Given the description of an element on the screen output the (x, y) to click on. 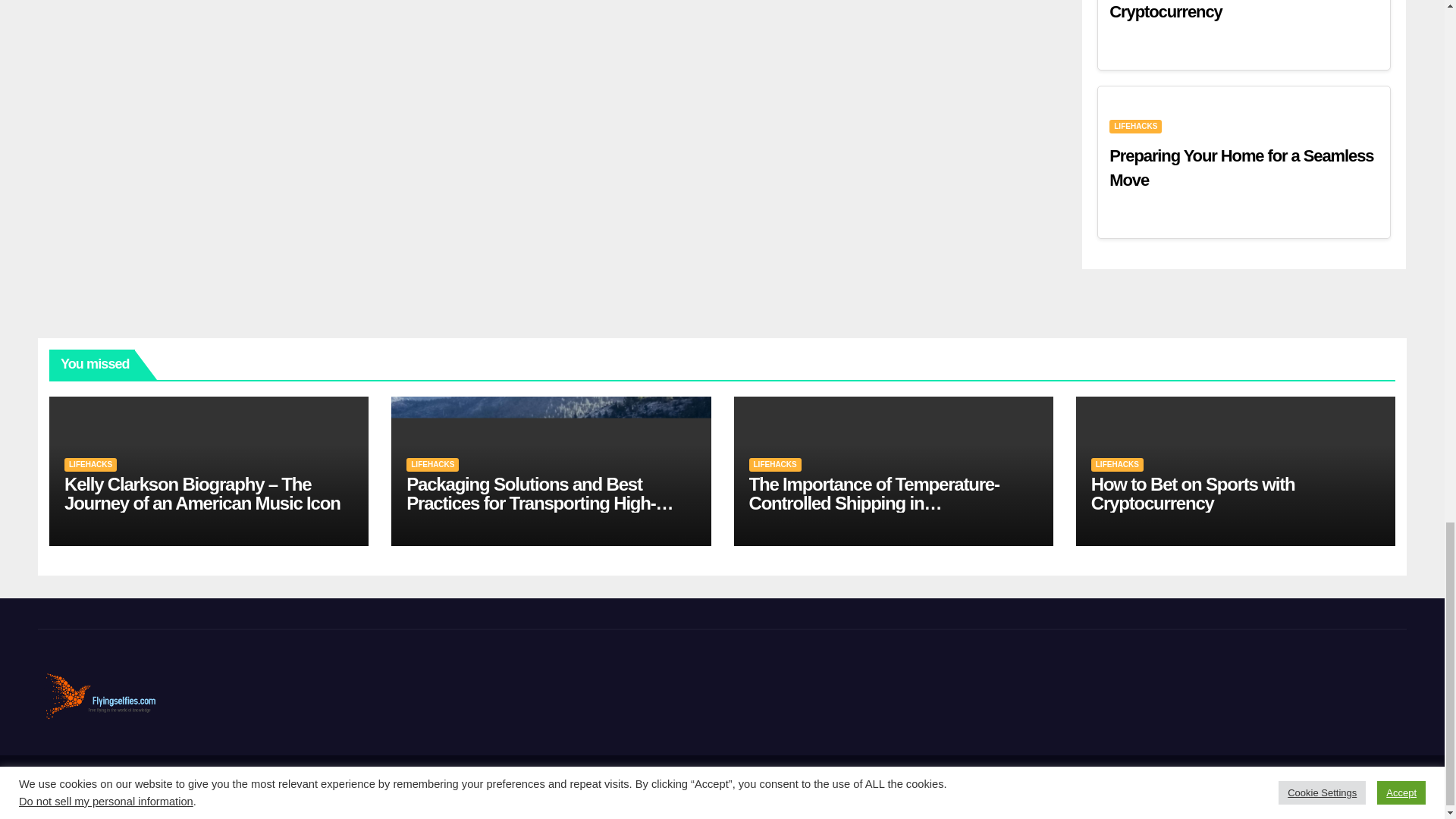
Privacy Policy (1296, 786)
Terms of Use (1371, 786)
Feedback (1228, 786)
Permalink to: How to Bet on Sports with Cryptocurrency (1192, 493)
